Given the description of an element on the screen output the (x, y) to click on. 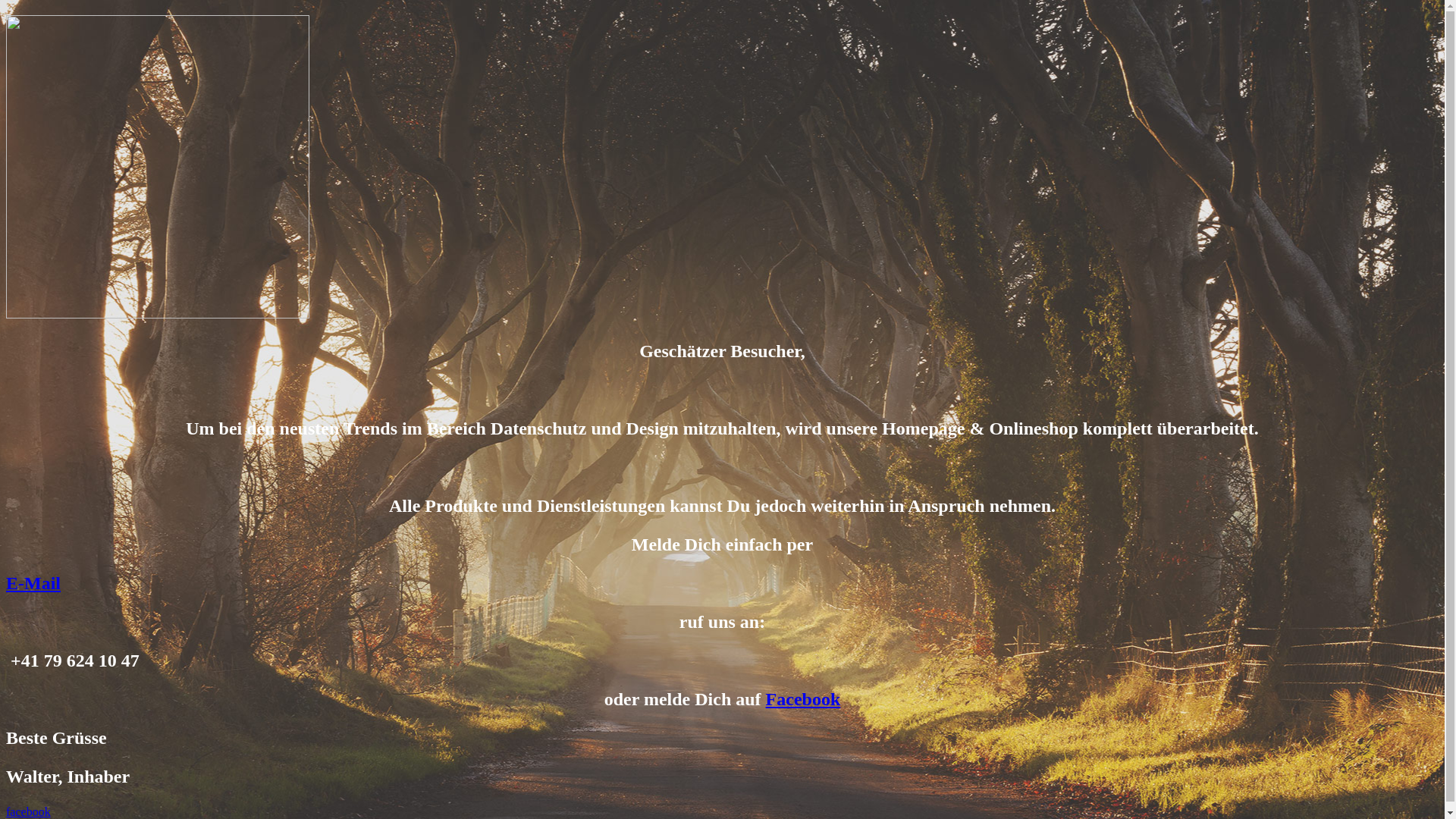
facebook Element type: text (28, 811)
Facebook Element type: text (802, 699)
E-Mail Element type: text (33, 583)
